Given the description of an element on the screen output the (x, y) to click on. 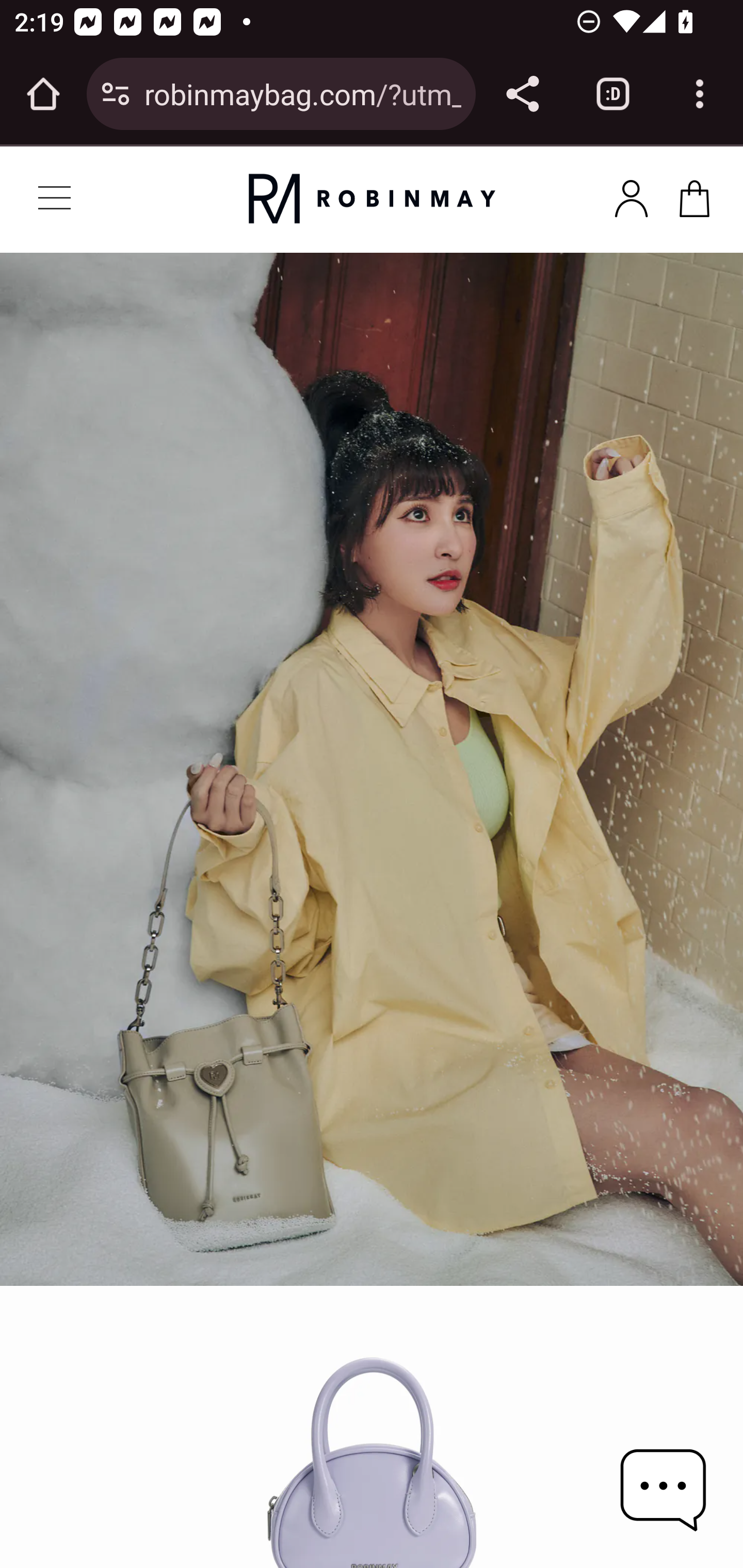
Open the home page (43, 93)
Connection is secure (115, 93)
Share (522, 93)
Switch or close tabs (612, 93)
Customize and control Google Chrome (699, 93)
original (371, 199)
x100 (631, 195)
x100 (694, 195)
co-branded-crossbody-bags-wb124 (371, 1426)
